Given the description of an element on the screen output the (x, y) to click on. 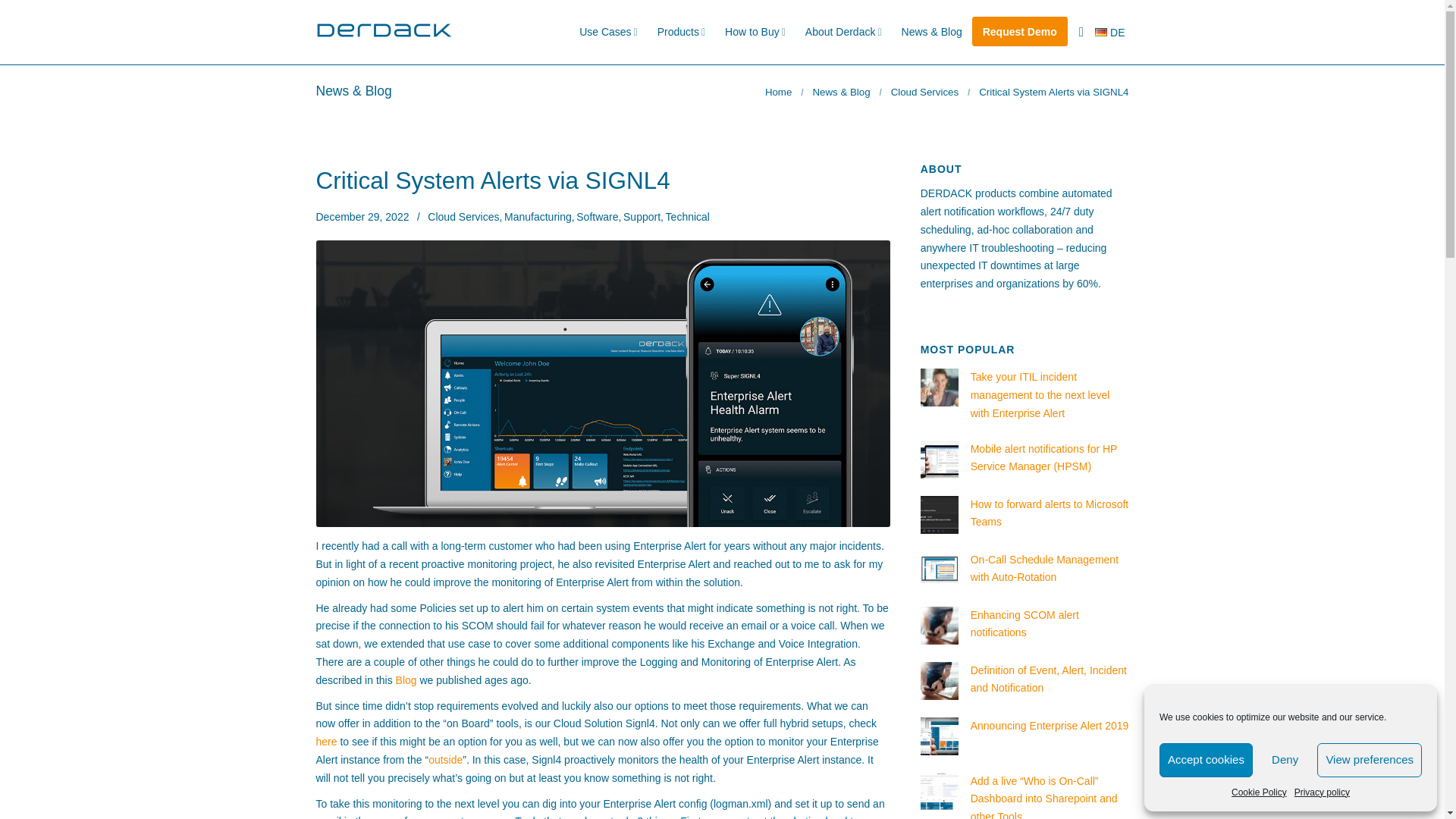
Accept cookies (1205, 759)
Deny (1284, 759)
How to Buy (754, 32)
Privacy policy (1321, 792)
View all posts in Technical (687, 216)
Cookie Policy (1259, 792)
View all posts in Software (599, 216)
Products (680, 32)
View all posts in Manufacturing (539, 216)
View all posts in Cloud Services (465, 216)
Use Cases (608, 32)
View preferences (1369, 759)
View all posts in Support (644, 216)
